Given the description of an element on the screen output the (x, y) to click on. 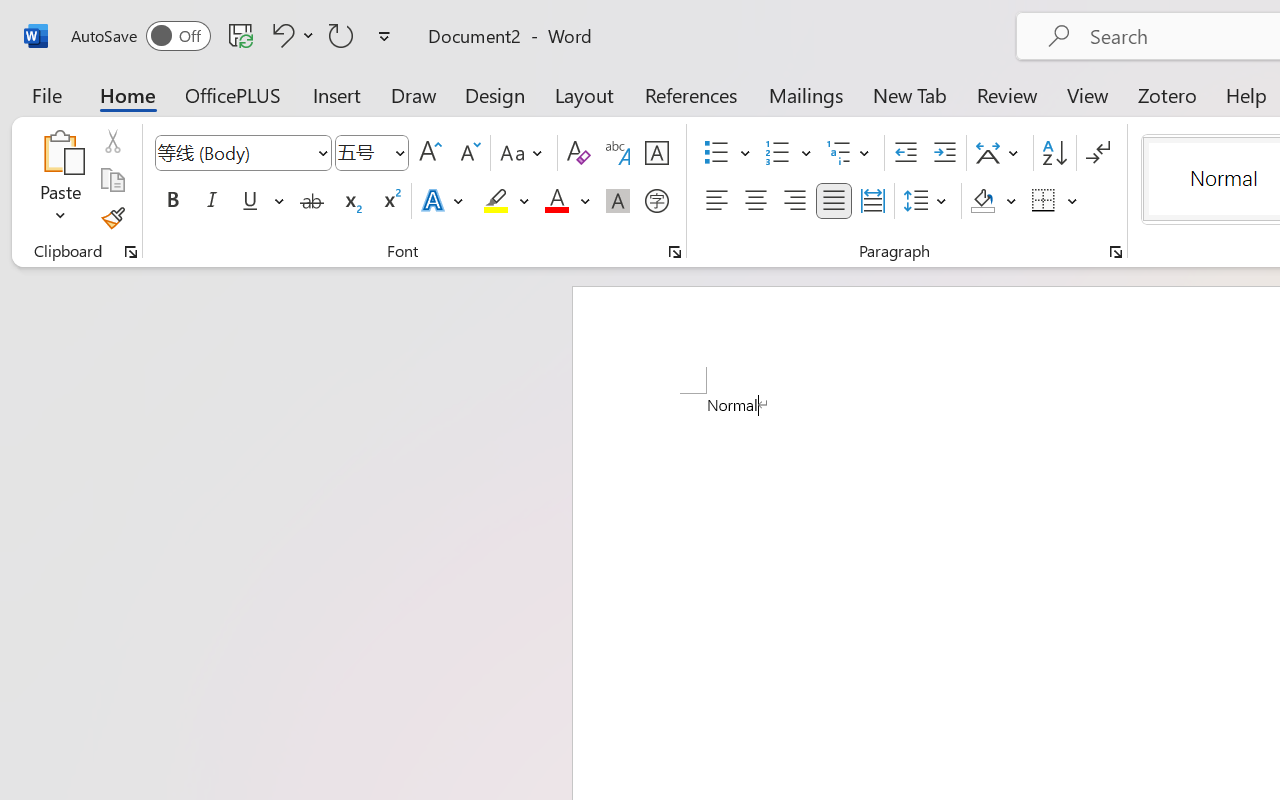
Phonetic Guide... (618, 153)
Cut (112, 141)
File Tab (46, 94)
Layout (584, 94)
Copy (112, 179)
Quick Access Toolbar (233, 36)
Open (399, 152)
References (690, 94)
Font... (675, 252)
Design (495, 94)
Line and Paragraph Spacing (927, 201)
Undo Apply Quick Style (280, 35)
Font (242, 153)
More Options (1073, 201)
Character Shading (618, 201)
